Given the description of an element on the screen output the (x, y) to click on. 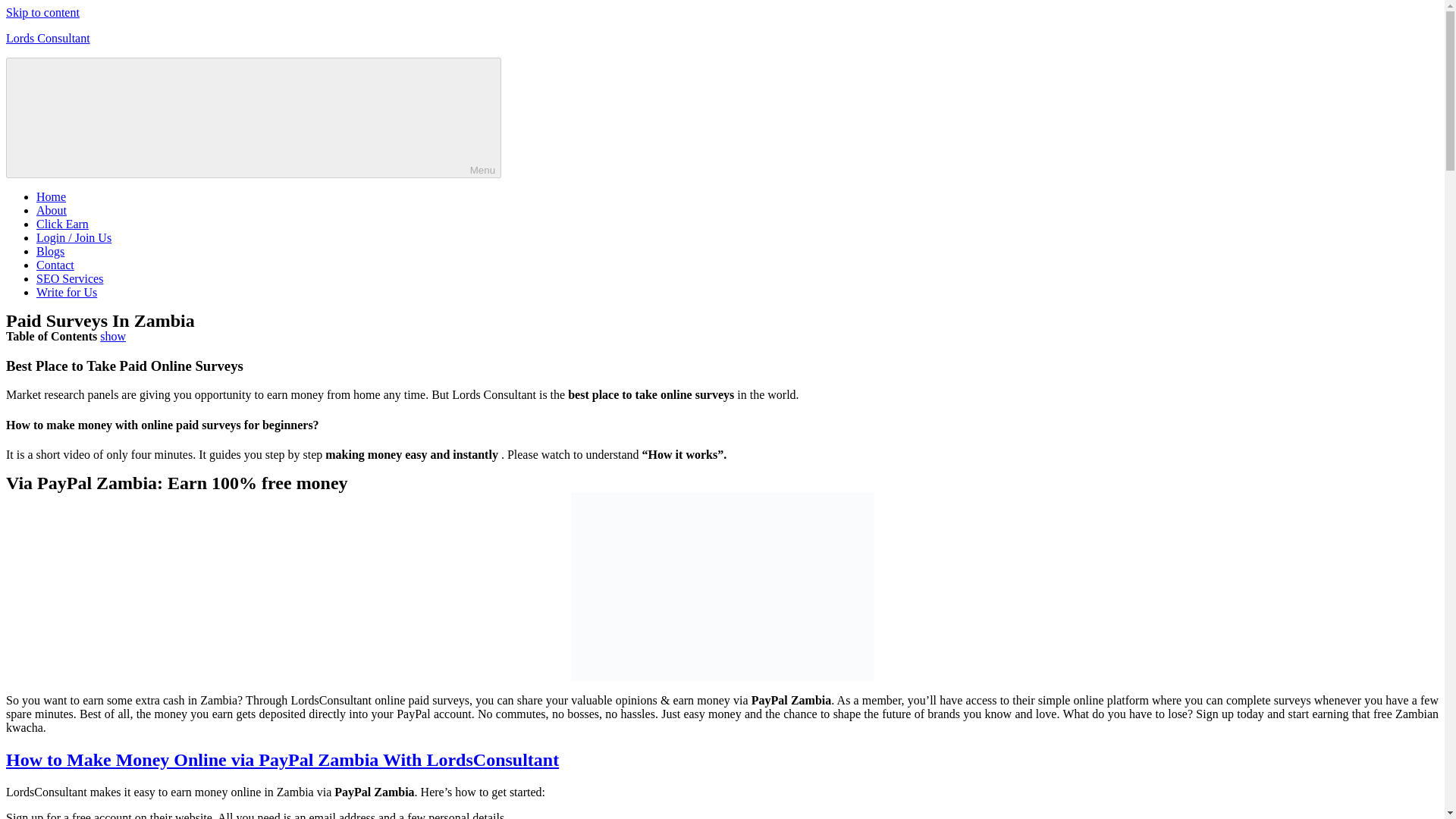
About (51, 210)
Lords Consultant (47, 38)
Skip to content (42, 11)
Click Earn (62, 223)
Menu (252, 117)
Home (50, 196)
Blogs (50, 250)
SEO Services (69, 278)
Online Paid Survey Zambia 1 (721, 586)
